Given the description of an element on the screen output the (x, y) to click on. 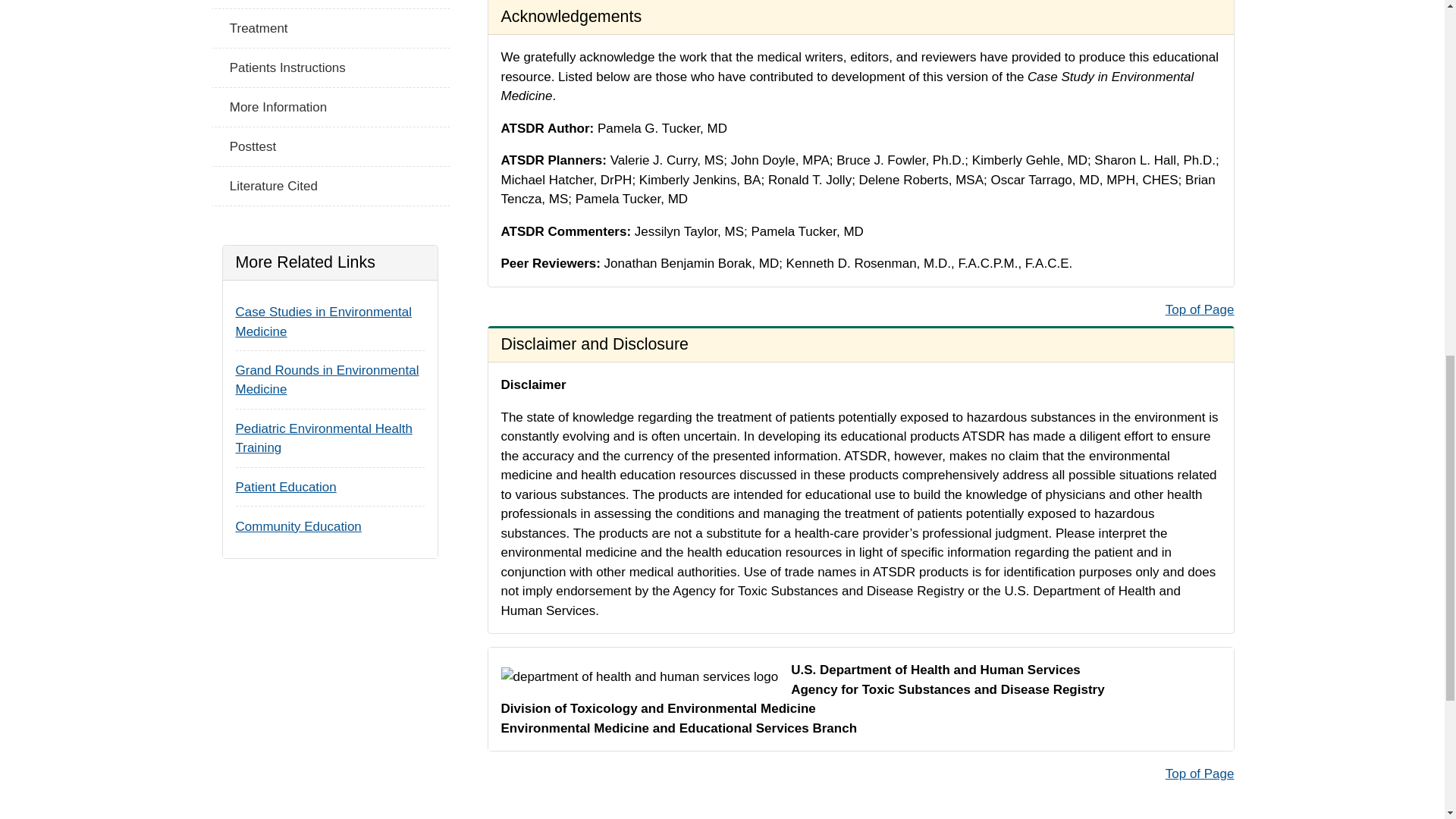
Top of Page (1200, 773)
Top of Page (1200, 309)
